Given the description of an element on the screen output the (x, y) to click on. 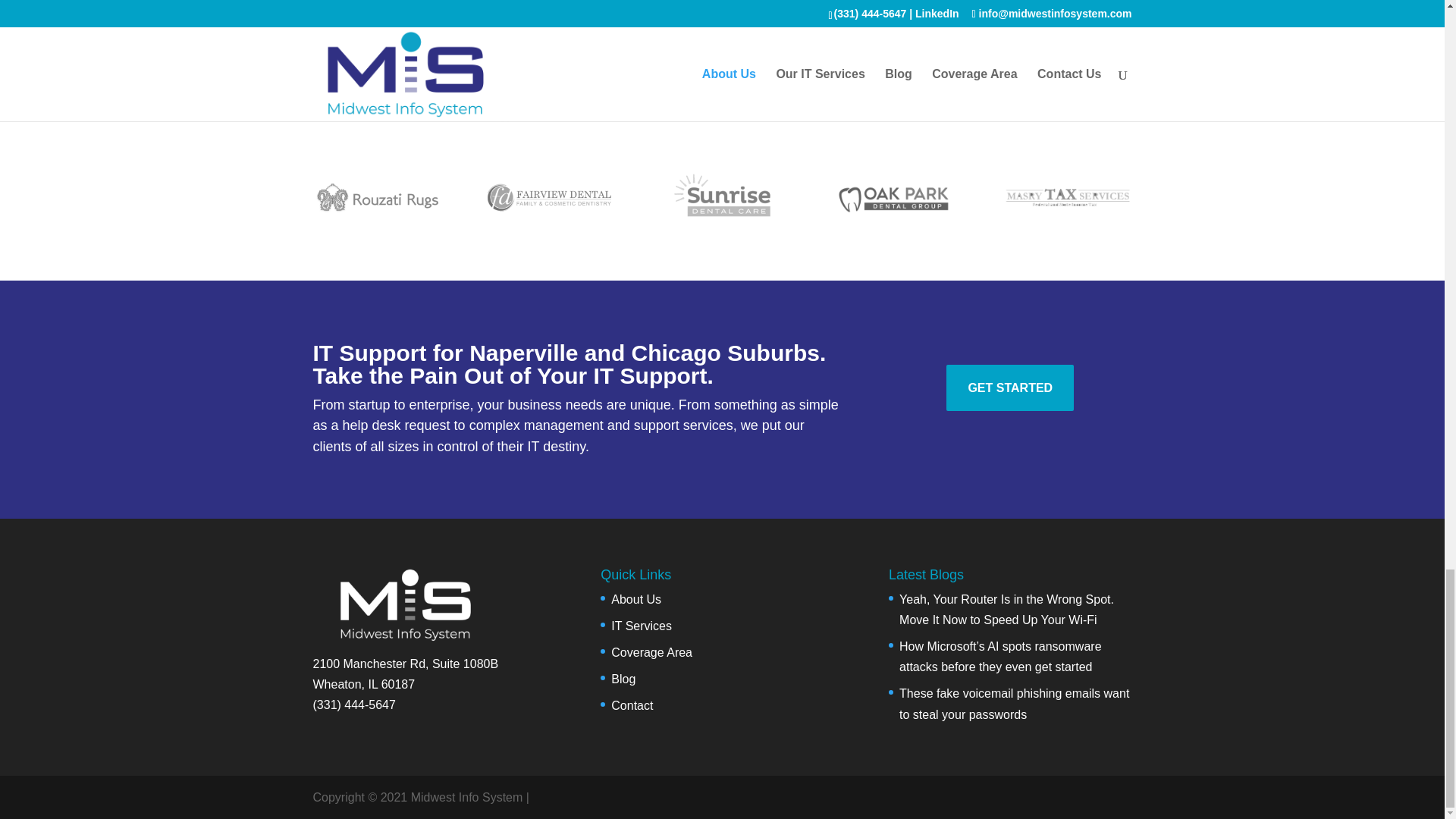
About Us (636, 599)
Coverage Area (652, 652)
Contact (631, 705)
IT Services (641, 625)
GET STARTED (1010, 387)
Blog (622, 678)
